Given the description of an element on the screen output the (x, y) to click on. 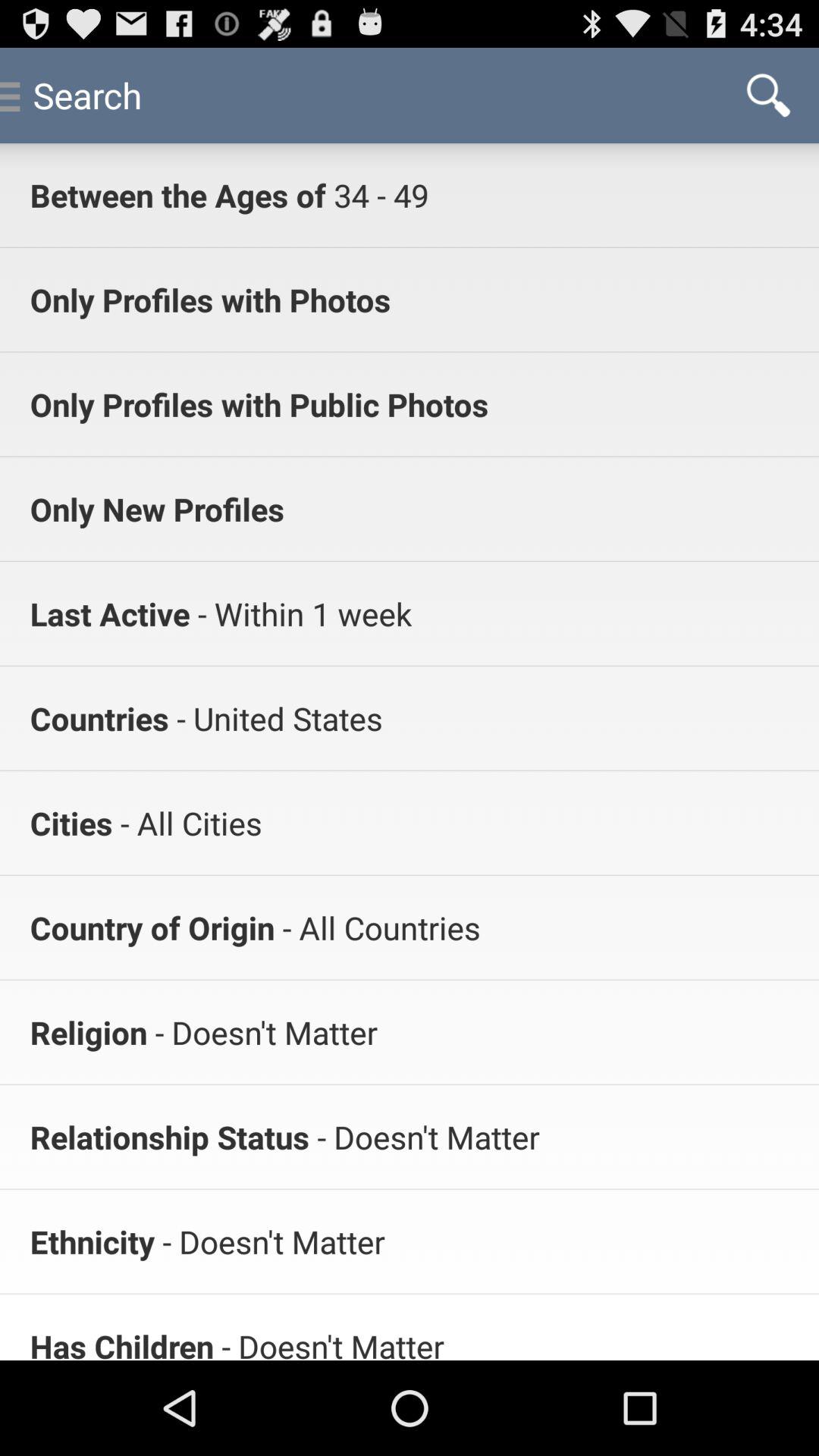
scroll to the relationship status icon (169, 1136)
